Given the description of an element on the screen output the (x, y) to click on. 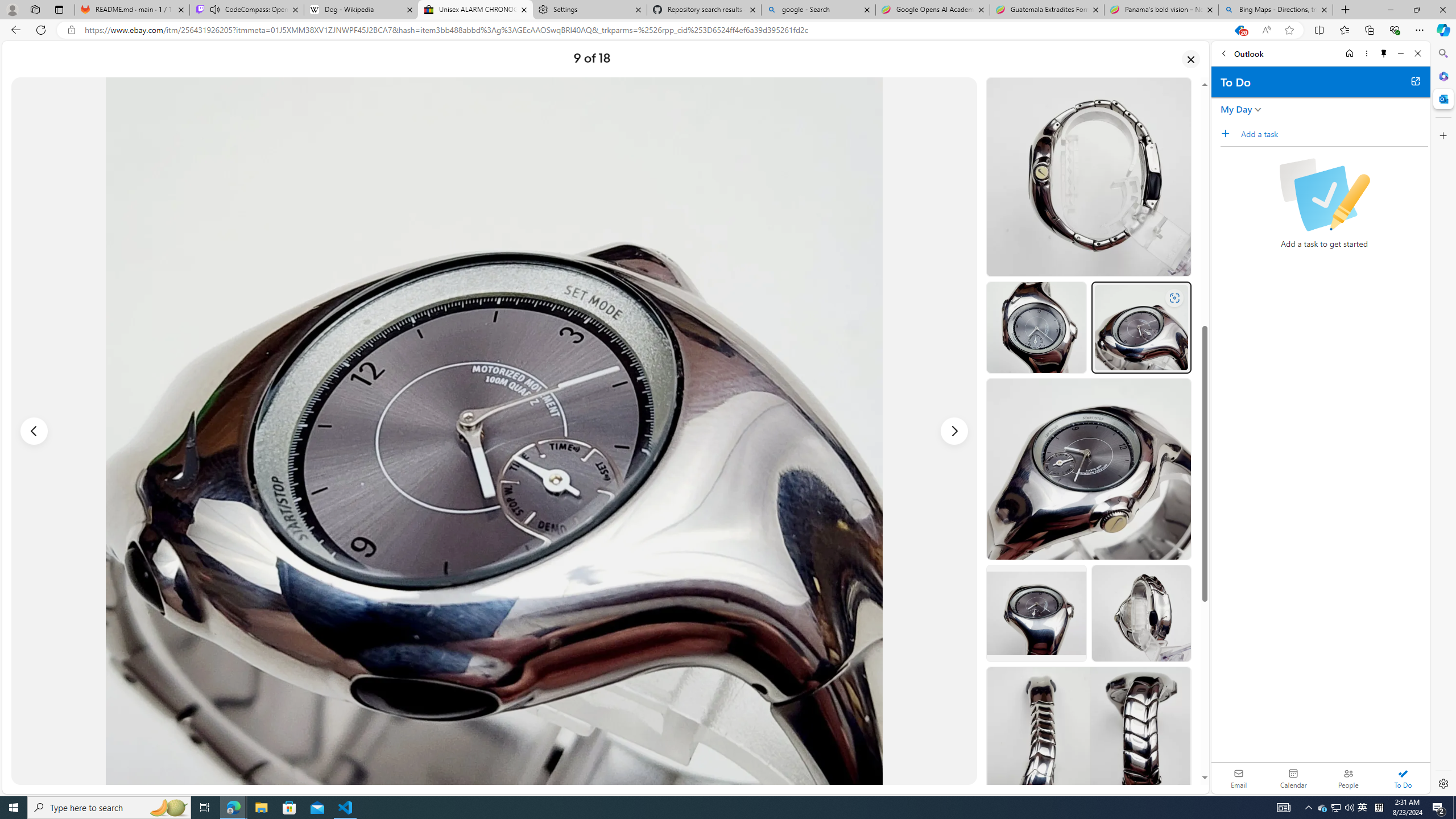
Email (1238, 777)
google - Search (818, 9)
Mute tab (215, 8)
People (1347, 777)
